Given the description of an element on the screen output the (x, y) to click on. 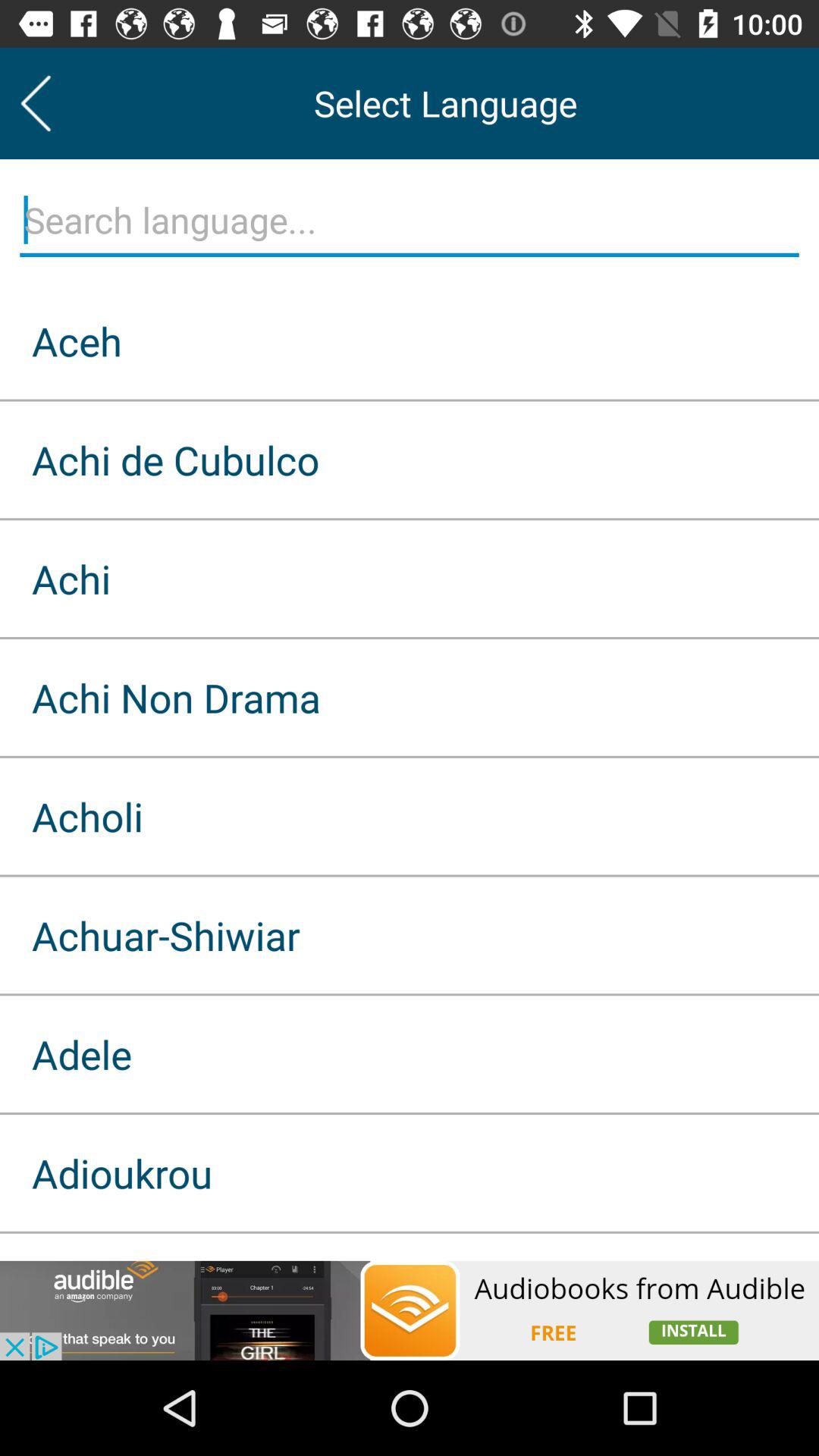
select language bar (409, 220)
